Given the description of an element on the screen output the (x, y) to click on. 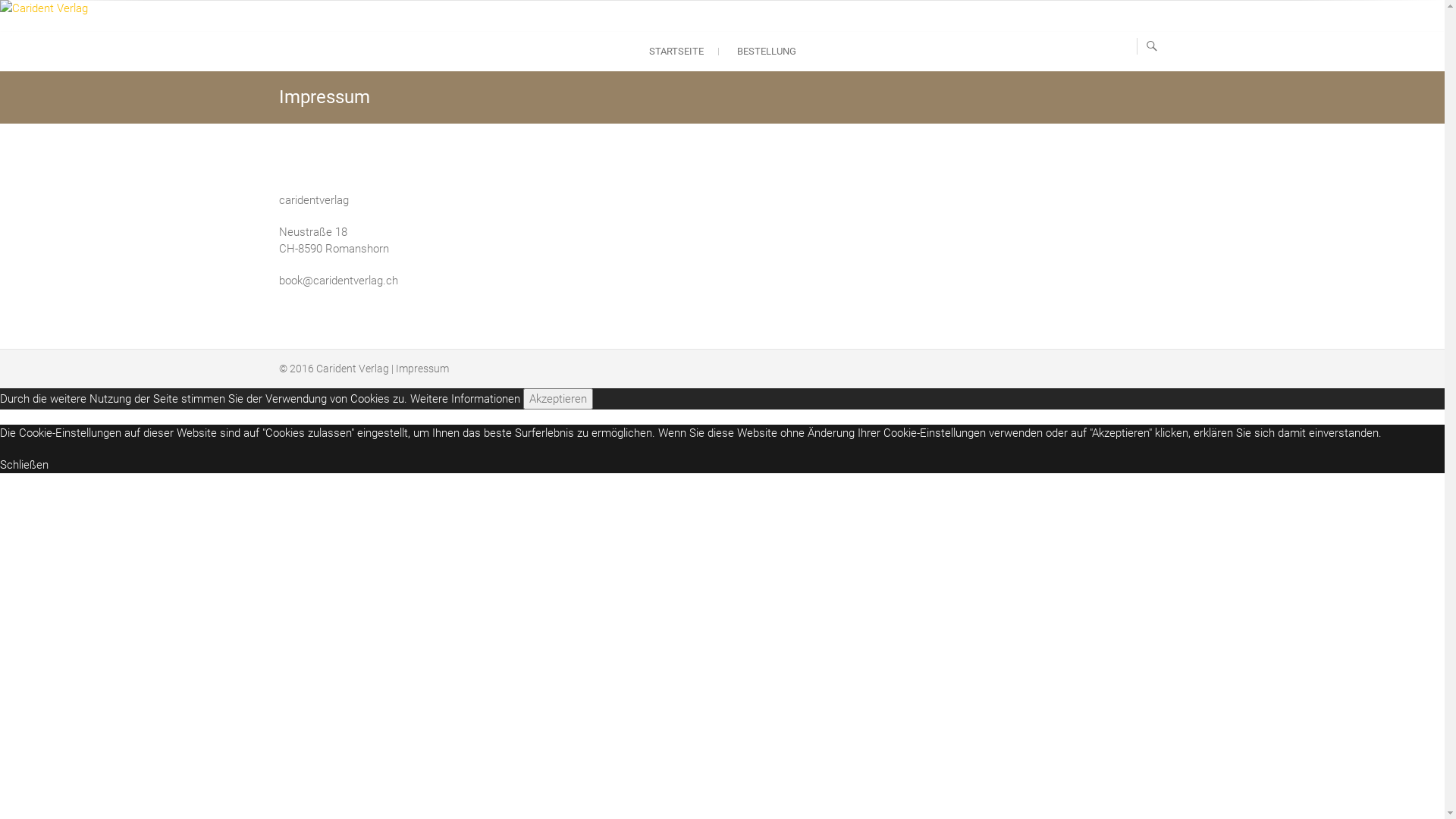
STARTSEITE Element type: text (675, 51)
Weitere Informationen Element type: text (465, 398)
Akzeptieren Element type: text (558, 398)
Impressum Element type: text (421, 368)
BESTELLUNG Element type: text (766, 51)
Carident Verlag Element type: text (351, 368)
